Given the description of an element on the screen output the (x, y) to click on. 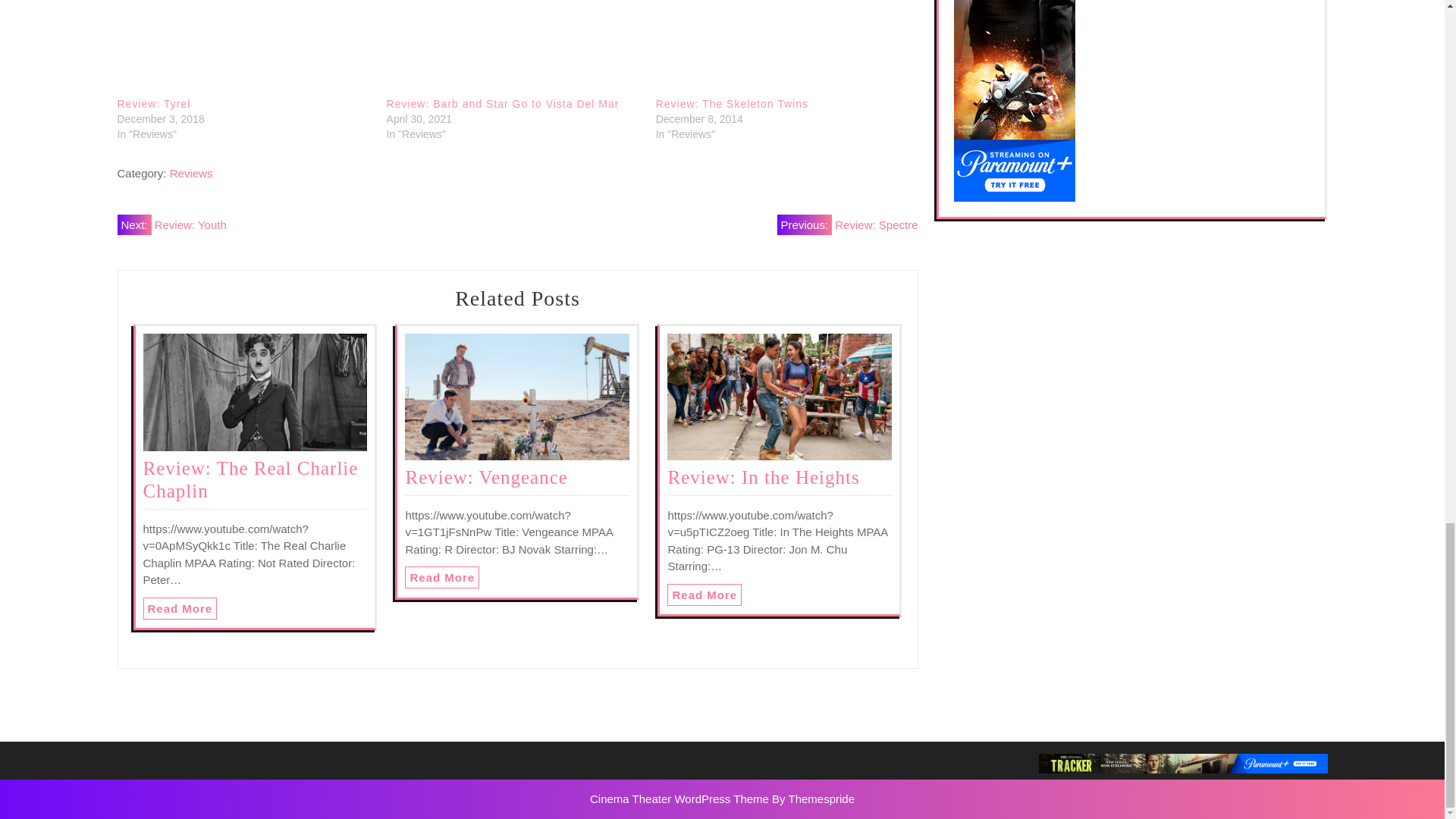
Review: The Real Charlie Chaplin (250, 479)
Review: Tyrel (153, 103)
Read More (703, 594)
Review: In the Heights (762, 476)
Review: Barb and Star Go to Vista Del Mar (503, 103)
Review: The Skeleton Twins (732, 103)
Read More (703, 594)
Review: The Skeleton Twins (783, 48)
Review: Barb and Star Go to Vista Del Mar (503, 103)
Read More (179, 608)
